Given the description of an element on the screen output the (x, y) to click on. 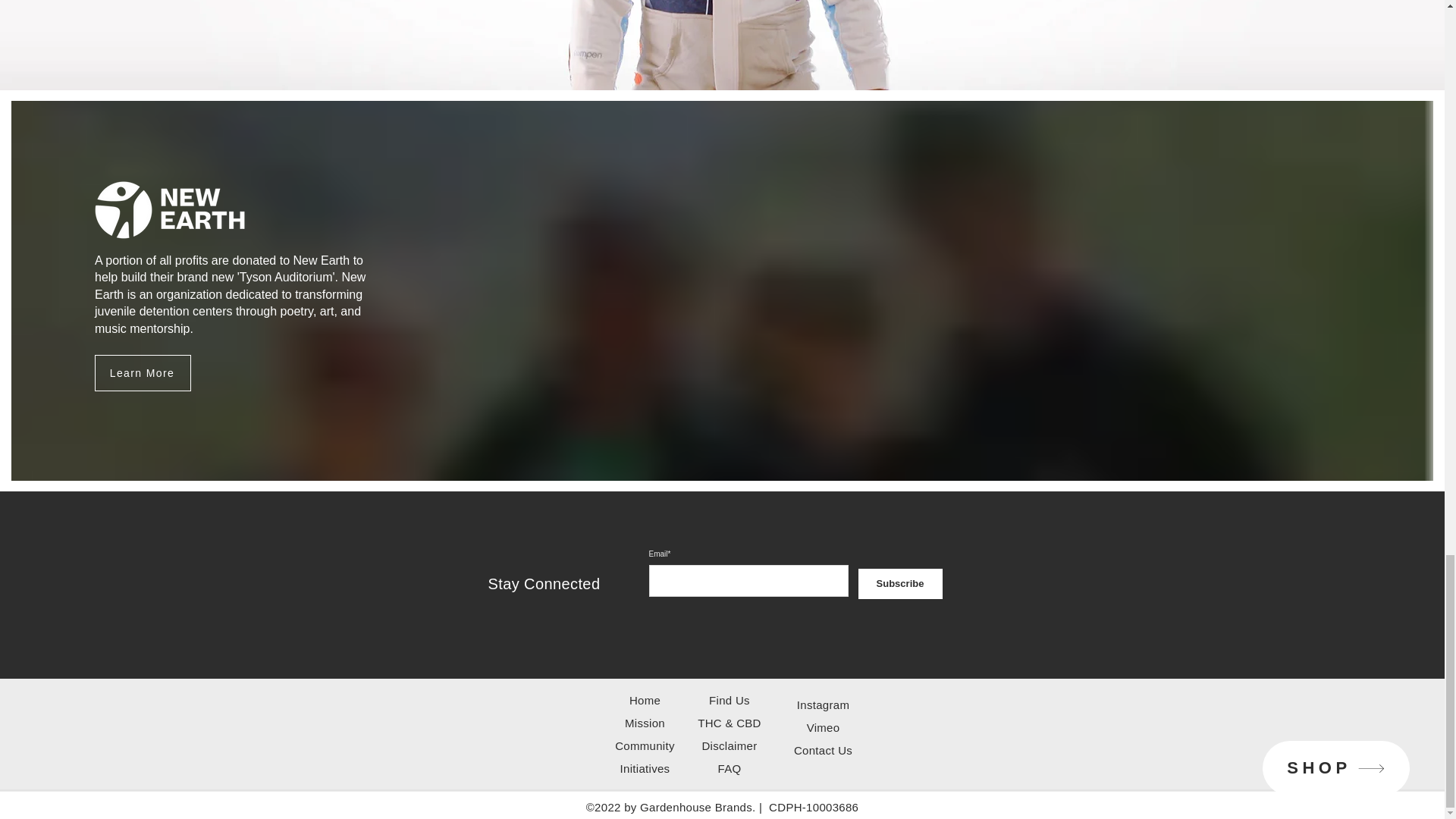
Mission (644, 722)
Learn More (142, 372)
Home (644, 699)
Community Initiatives (644, 756)
Subscribe (900, 583)
Vimeo (823, 727)
Find Us (729, 699)
Instagram (822, 704)
Contact Us (822, 749)
